Given the description of an element on the screen output the (x, y) to click on. 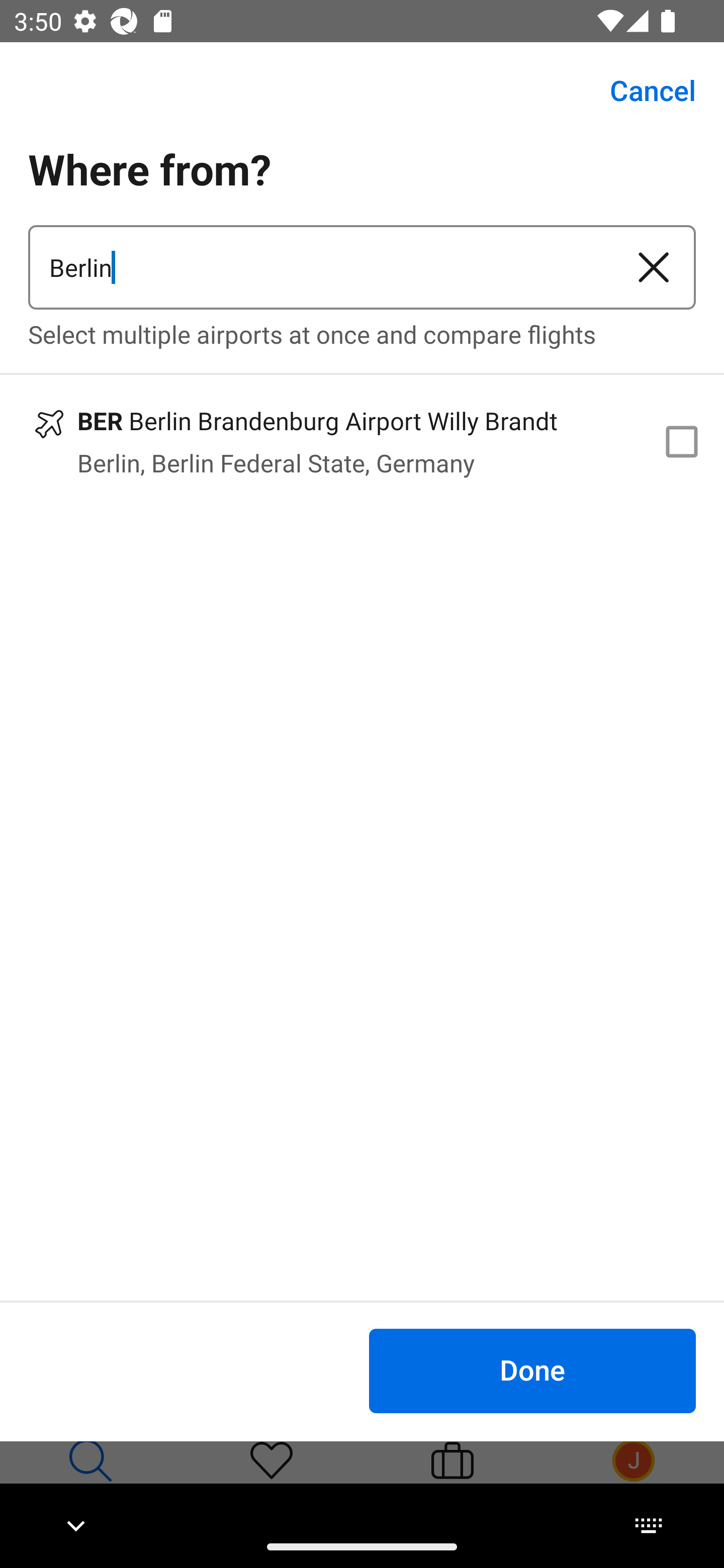
Cancel (641, 90)
Berlin (319, 266)
Clear airport or city (653, 266)
Done (532, 1370)
